Given the description of an element on the screen output the (x, y) to click on. 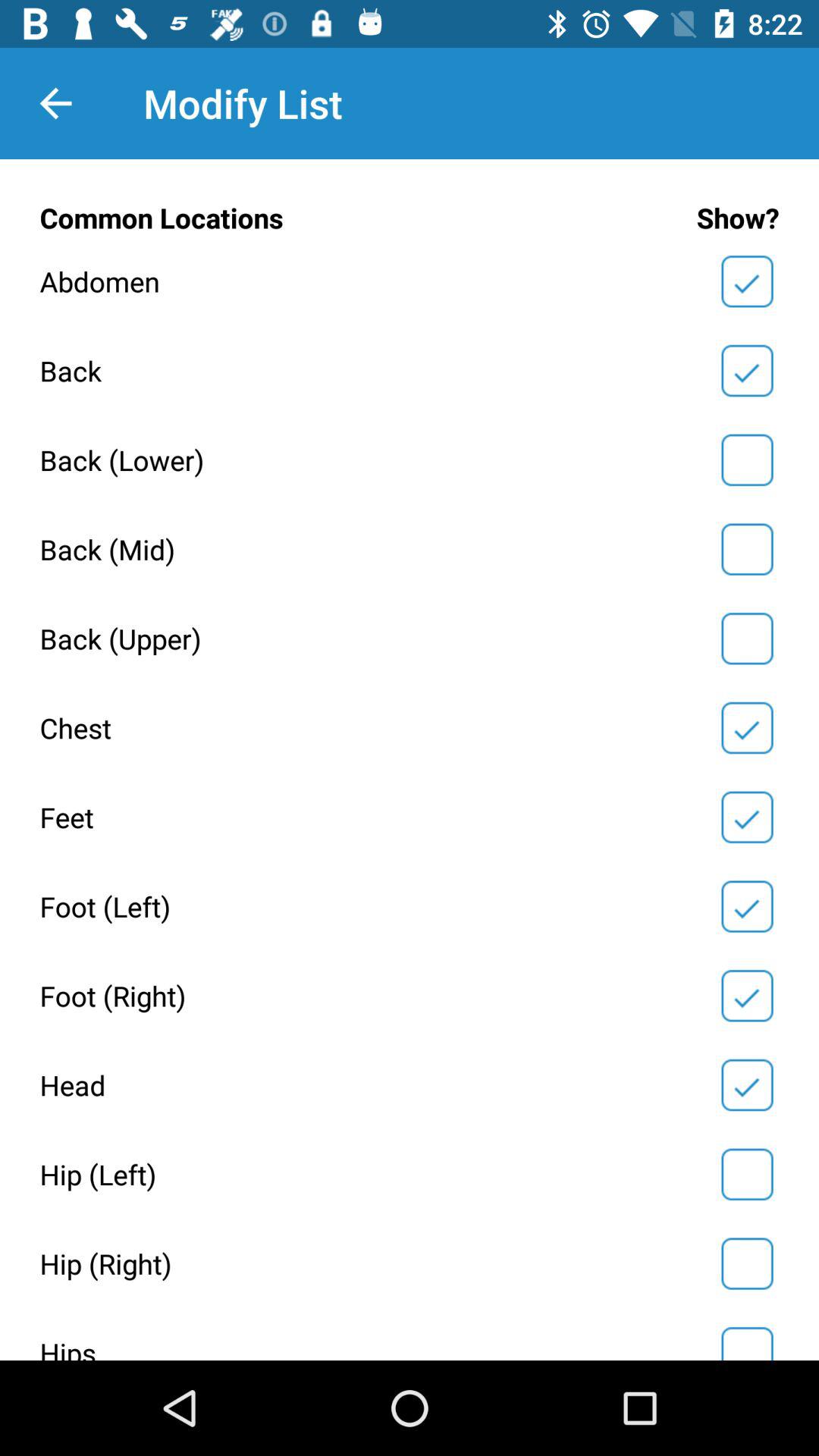
check selected location (747, 638)
